Given the description of an element on the screen output the (x, y) to click on. 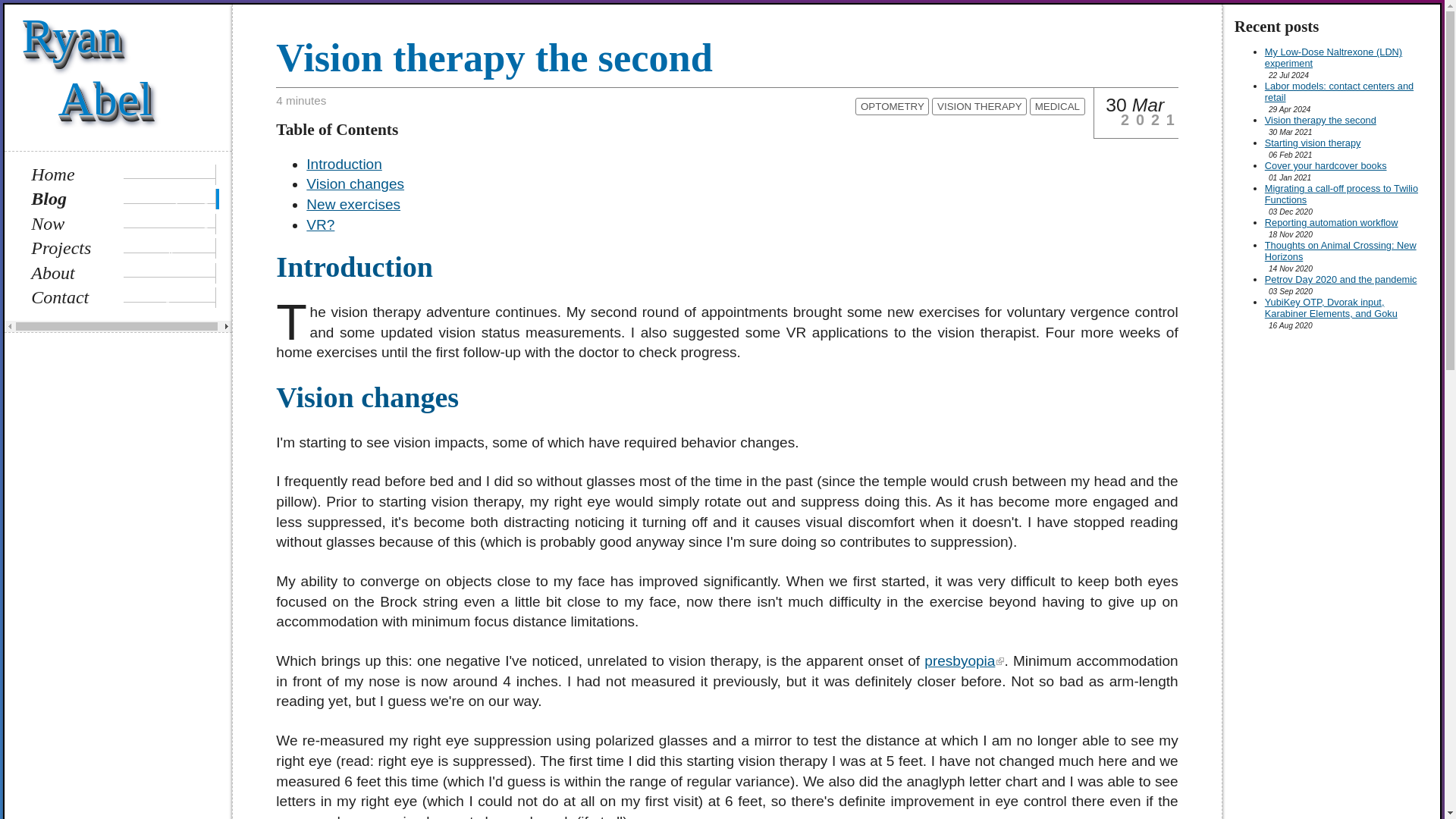
presbyopia (964, 660)
Vision changes (354, 183)
Introduction (343, 163)
MEDICAL (122, 272)
VISION THERAPY (1056, 106)
YubiKey OTP, Dvorak input, Karabiner Elements, and Goku (978, 106)
Petrov Day 2020 and the pandemic (1331, 307)
Vision therapy the second (1340, 279)
